Given the description of an element on the screen output the (x, y) to click on. 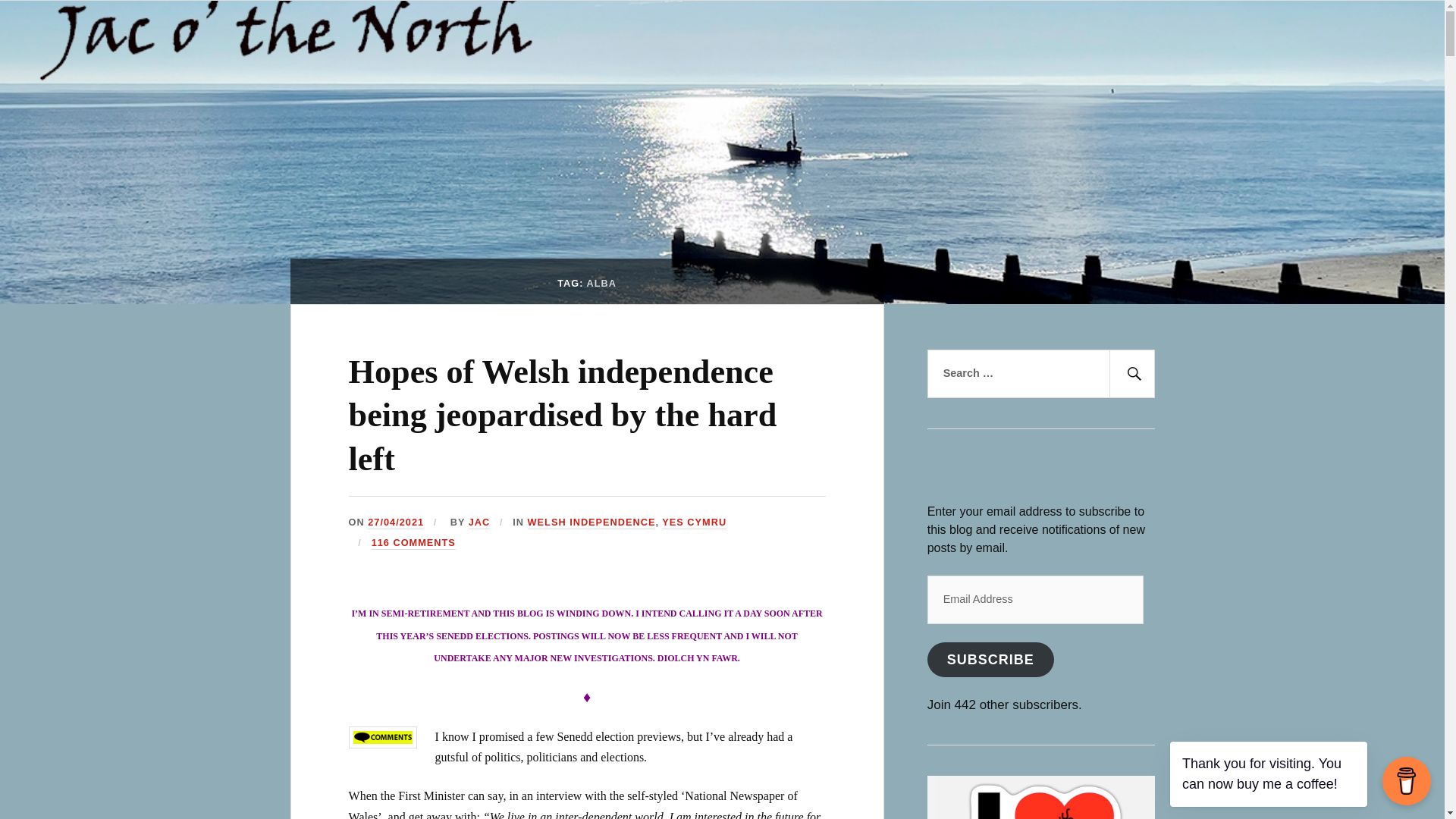
Search for: (1040, 373)
WELSH INDEPENDENCE (591, 522)
YES CYMRU (694, 522)
Jac o' the North (170, 42)
JAC (479, 522)
116 COMMENTS (413, 543)
